Given the description of an element on the screen output the (x, y) to click on. 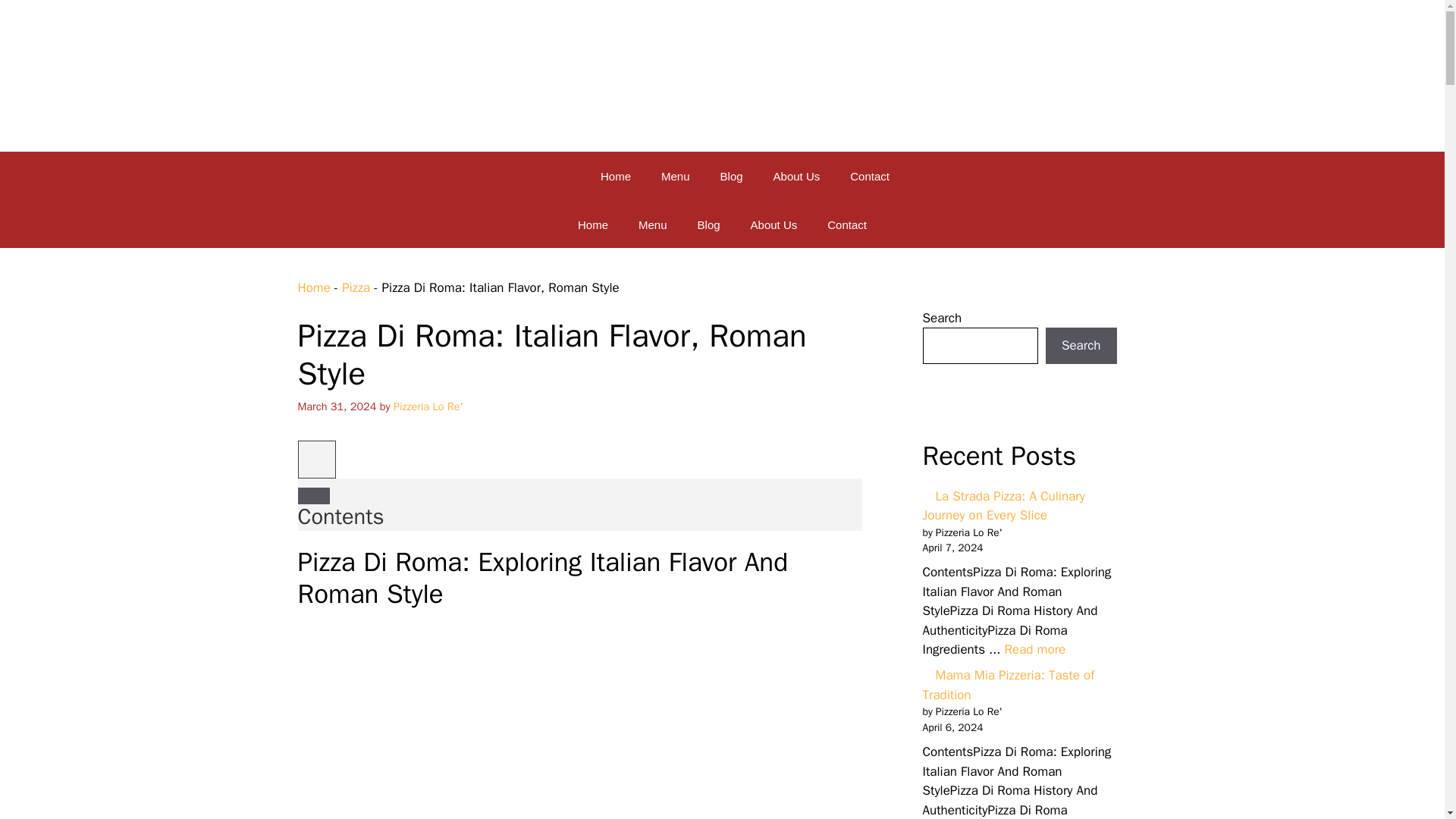
Blog (708, 224)
View all posts by Pizzeria Lo Re' (428, 405)
Menu (652, 224)
La Strada Pizza: A Culinary Journey on Every Slice (1034, 649)
About Us (796, 176)
Pizzeria Lo Re' (319, 176)
Blog (731, 176)
Contact (869, 176)
Pizza (355, 286)
Contact (847, 224)
